Given the description of an element on the screen output the (x, y) to click on. 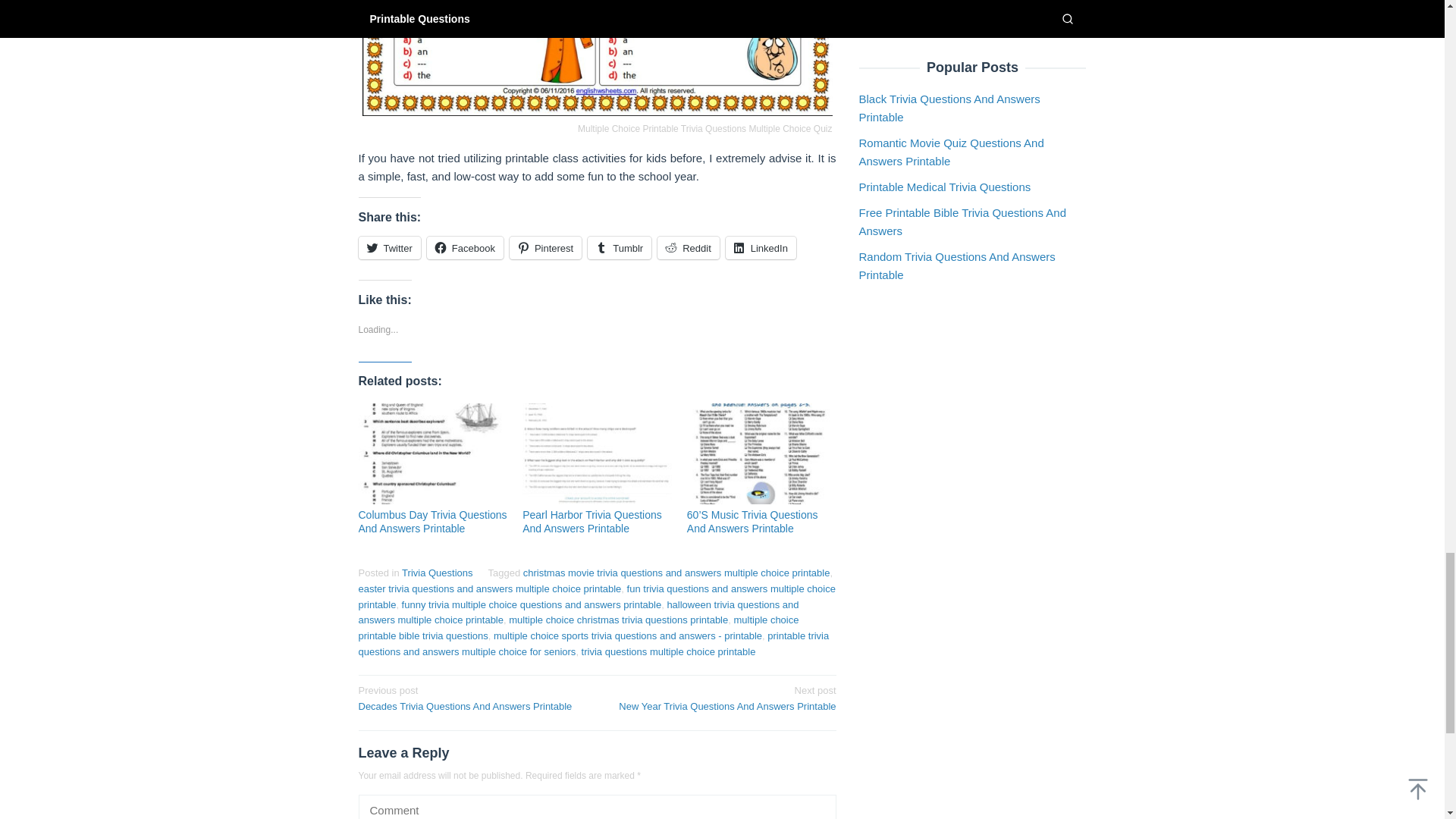
multiple choice printable bible trivia questions (577, 627)
Trivia Questions (436, 572)
Click to share on Reddit (688, 247)
Reddit (688, 247)
fun trivia questions and answers multiple choice printable (596, 596)
Columbus Day Trivia Questions And Answers Printable (432, 521)
